Given the description of an element on the screen output the (x, y) to click on. 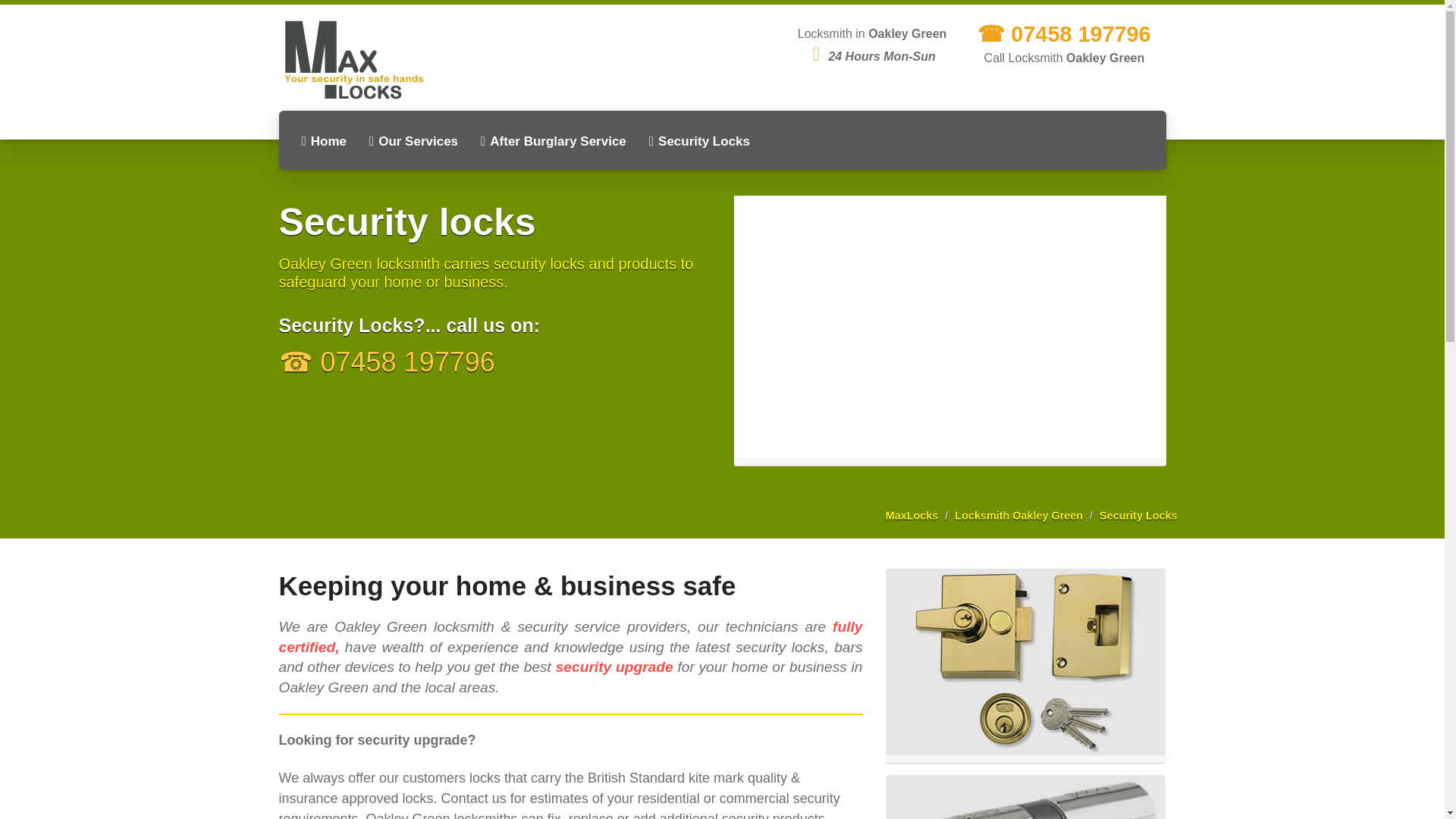
MaxLocks (912, 515)
Locksmith Oakley Green (1019, 515)
Locksmith Oakley Green (1019, 515)
After Burglary Service (552, 141)
Our Oakley Green Locksmith Services (413, 141)
After burglary repairs in Oakley Green (552, 141)
Our Services (413, 141)
Security Locks (1137, 515)
Home (322, 141)
Locksmith in Oakley Green (322, 141)
Security locks in Oakley Green (1137, 515)
Security Locks (699, 141)
